Given the description of an element on the screen output the (x, y) to click on. 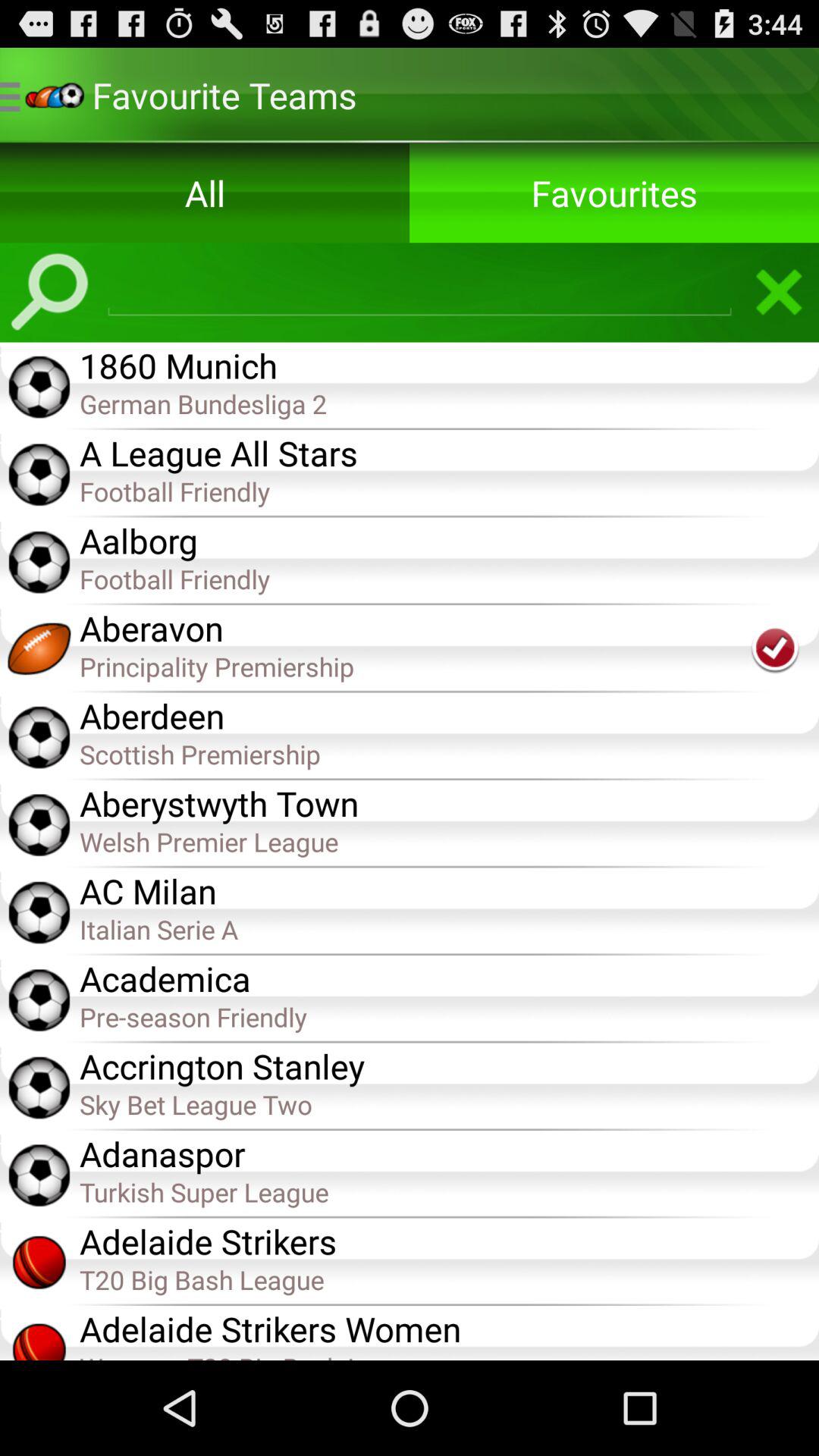
flip to favourites button (614, 192)
